Given the description of an element on the screen output the (x, y) to click on. 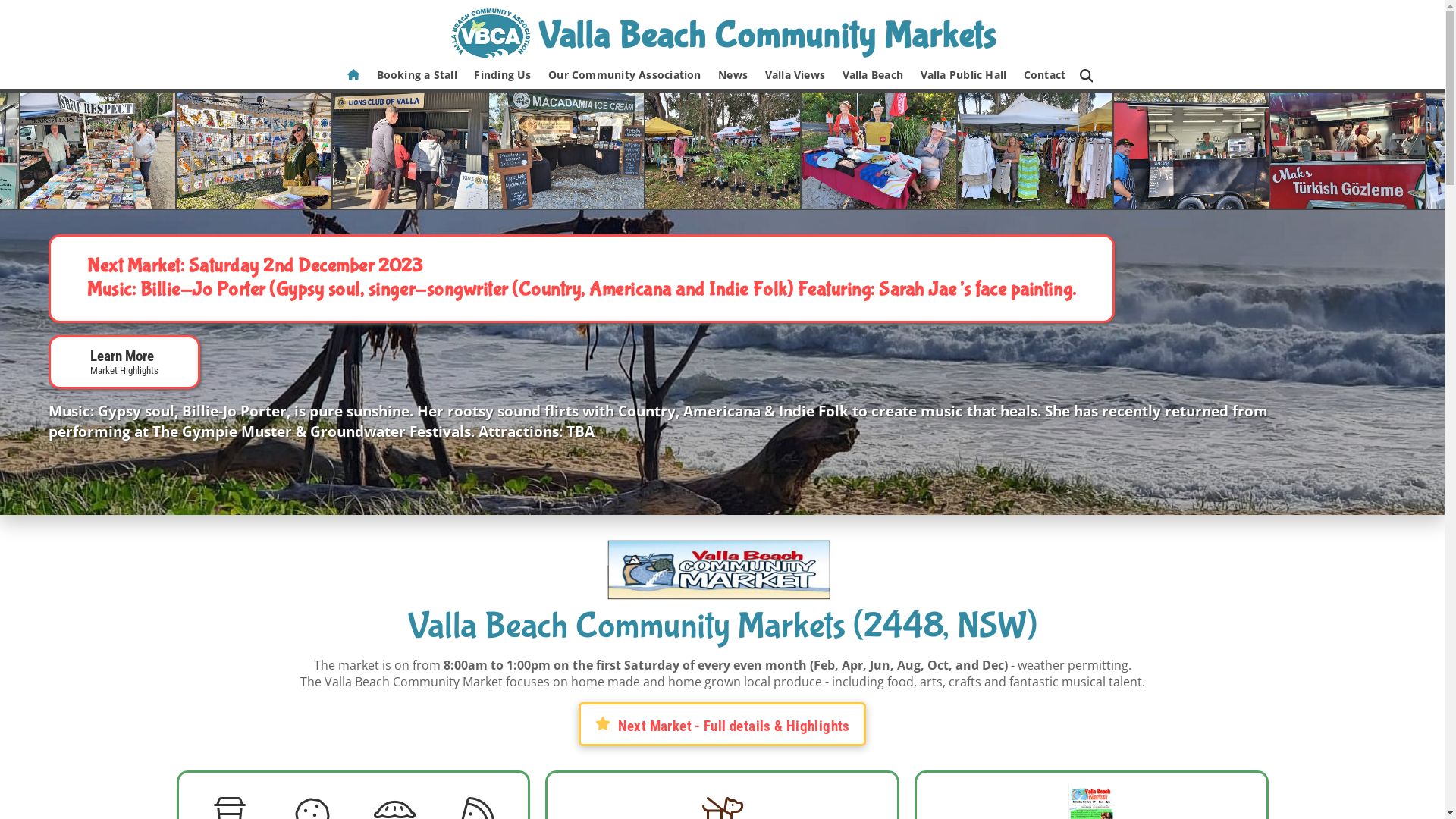
Booking a Stall Element type: text (416, 74)
Our Community Association Element type: text (624, 74)
News Element type: text (732, 74)
Next Market - Full details & Highlights Element type: text (722, 724)
Valla Beach Element type: text (872, 74)
Contact Element type: text (1043, 74)
Valla Beach Community Markets Element type: text (722, 32)
Valla Views Element type: text (794, 74)
Finding Us Element type: text (502, 74)
Valla Public Hall Element type: text (962, 74)
